Given the description of an element on the screen output the (x, y) to click on. 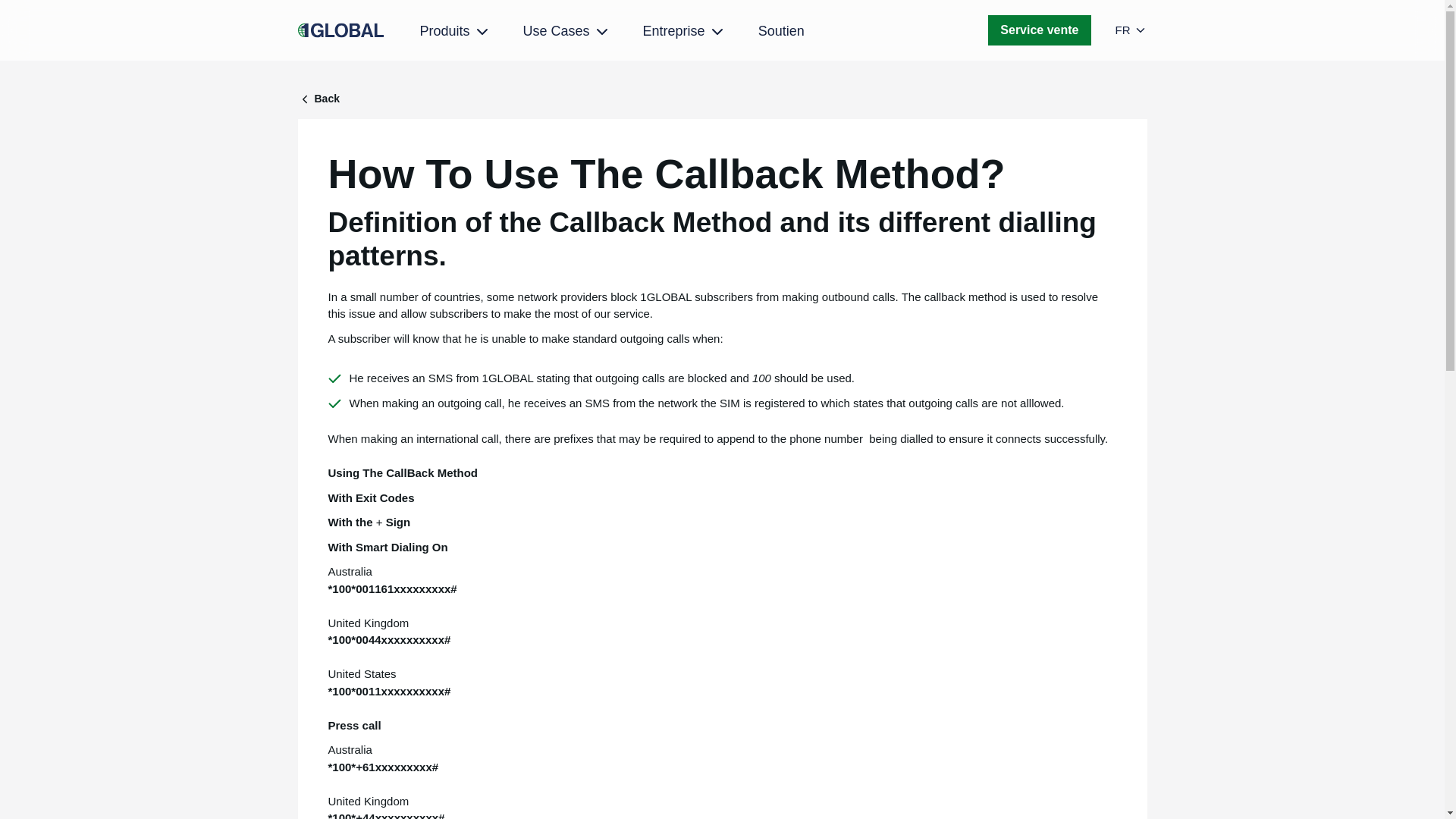
Back (722, 98)
Service vente (1039, 30)
Soutien (781, 30)
Use Cases (566, 31)
FR (1131, 30)
Entreprise (684, 31)
Produits (456, 31)
Soutien (781, 30)
